Given the description of an element on the screen output the (x, y) to click on. 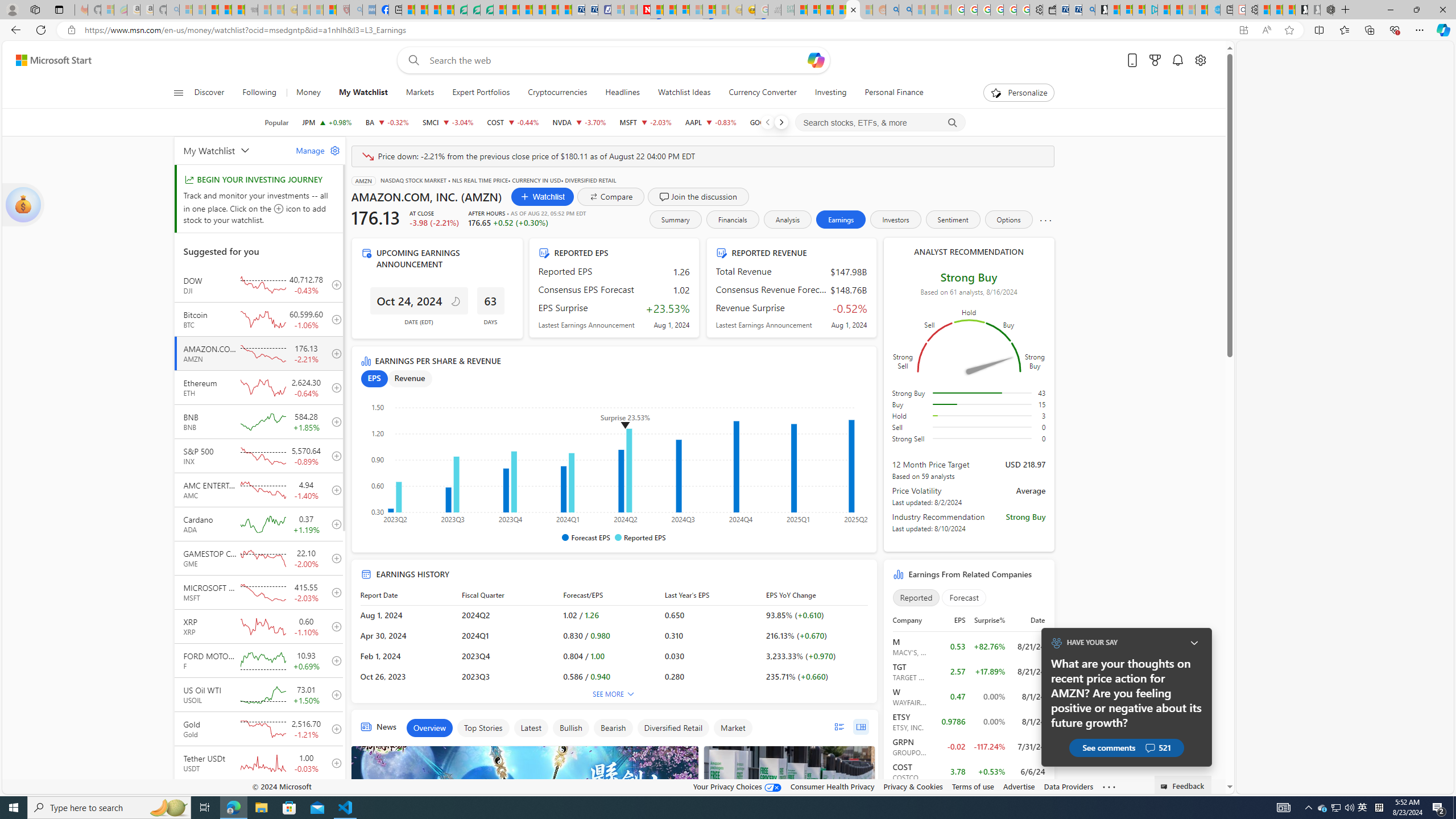
show card (22, 204)
Terms of use (973, 785)
Your Privacy Choices (737, 786)
My Watchlist (363, 92)
Microsoft Start Gaming (1101, 9)
Personal Finance (893, 92)
Currency Converter (762, 92)
Overview (429, 728)
